Given the description of an element on the screen output the (x, y) to click on. 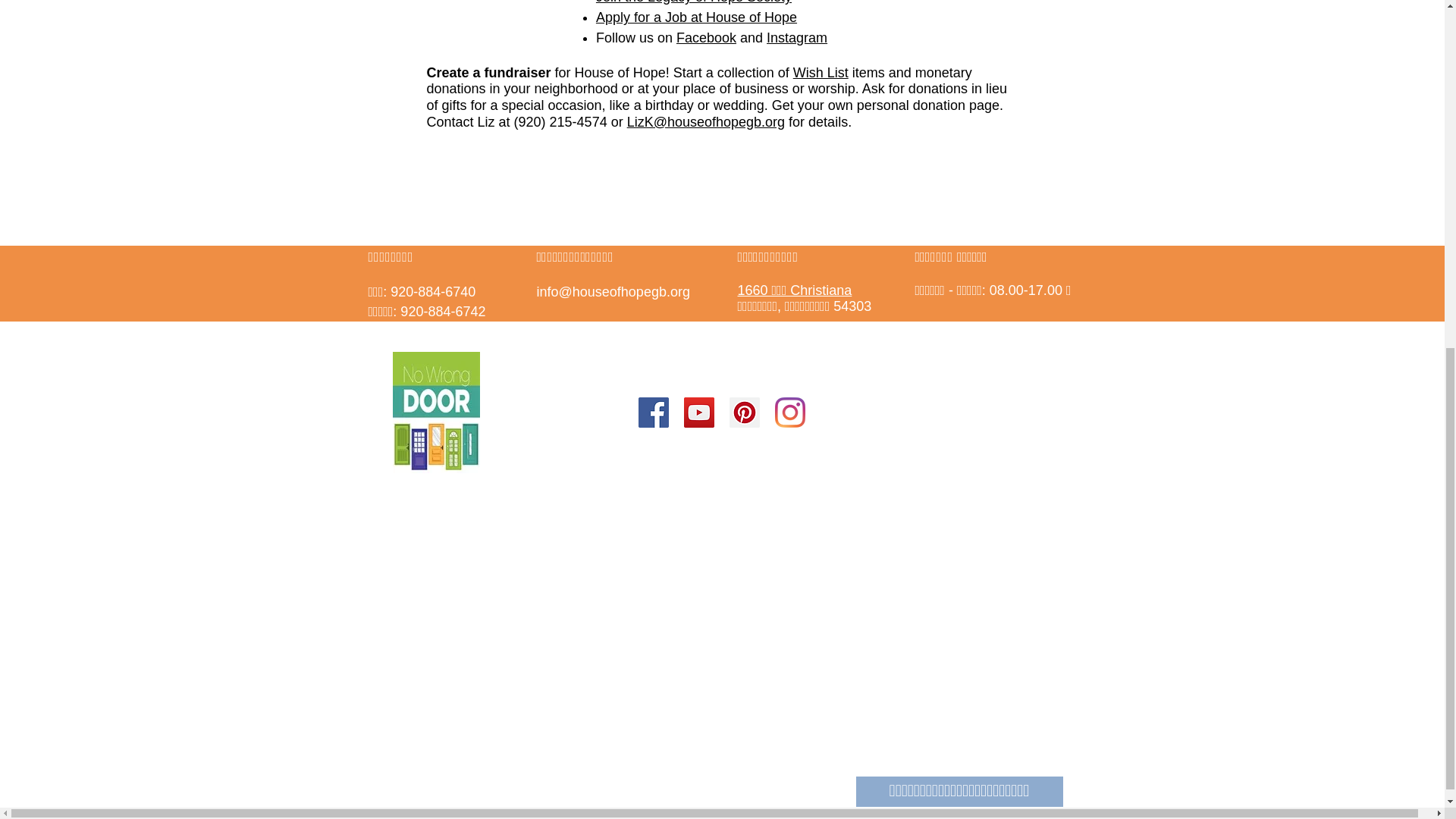
Join the Legacy of Hope Society (693, 2)
Facebook (706, 37)
Wish List (820, 72)
Apply for a Job at House of Hope (695, 17)
Instagram (797, 37)
